Given the description of an element on the screen output the (x, y) to click on. 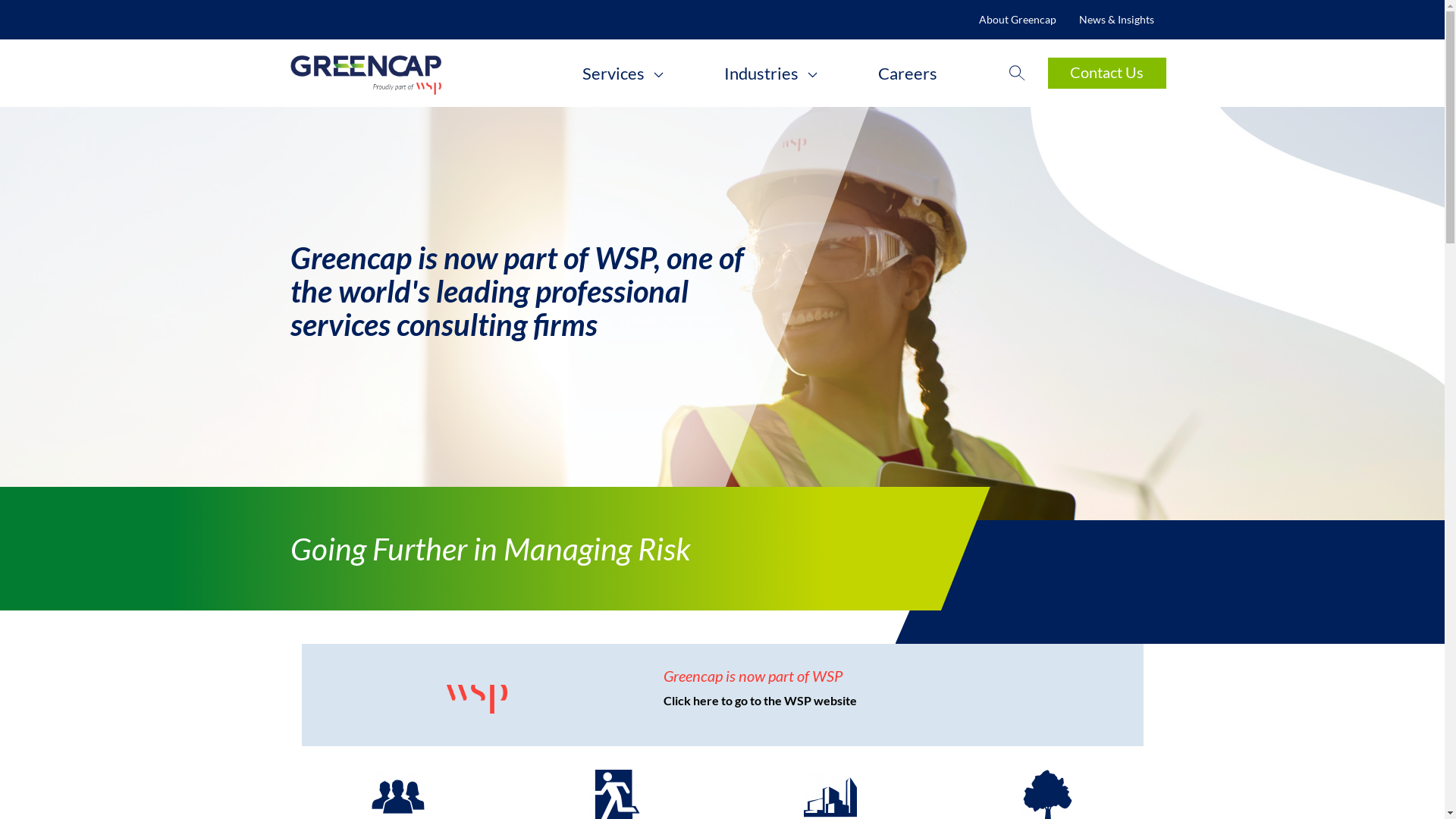
Contact Us Element type: text (1106, 72)
Industries Element type: text (770, 73)
Home Element type: hover (406, 72)
Services Element type: text (622, 73)
Skip to main content Element type: text (0, 0)
Click here to go to the WSP website Element type: text (759, 700)
News & Insights Element type: text (1116, 19)
Careers Element type: text (907, 73)
About Greencap Element type: text (1017, 19)
